Given the description of an element on the screen output the (x, y) to click on. 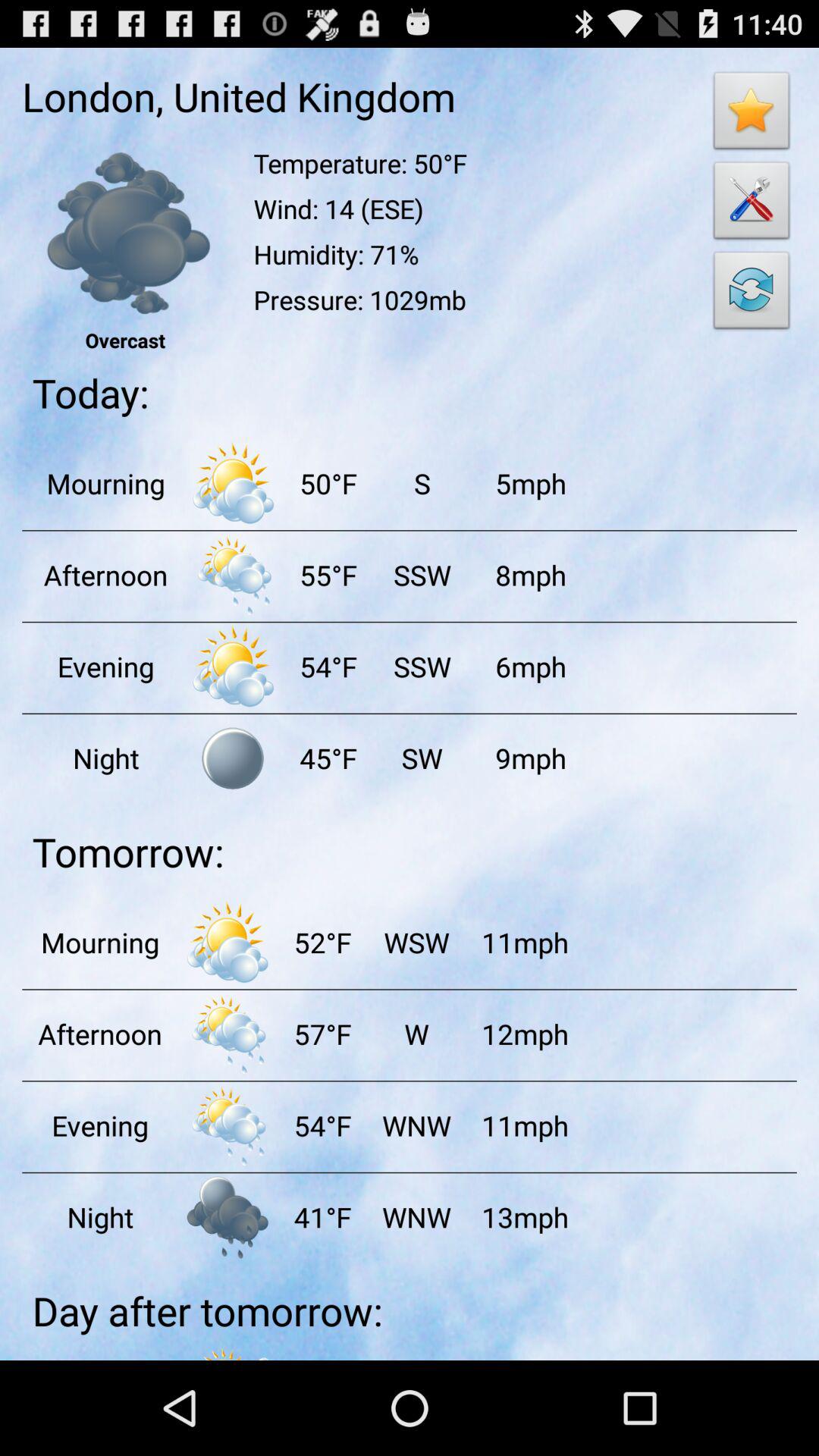
forecast clipart (232, 574)
